Given the description of an element on the screen output the (x, y) to click on. 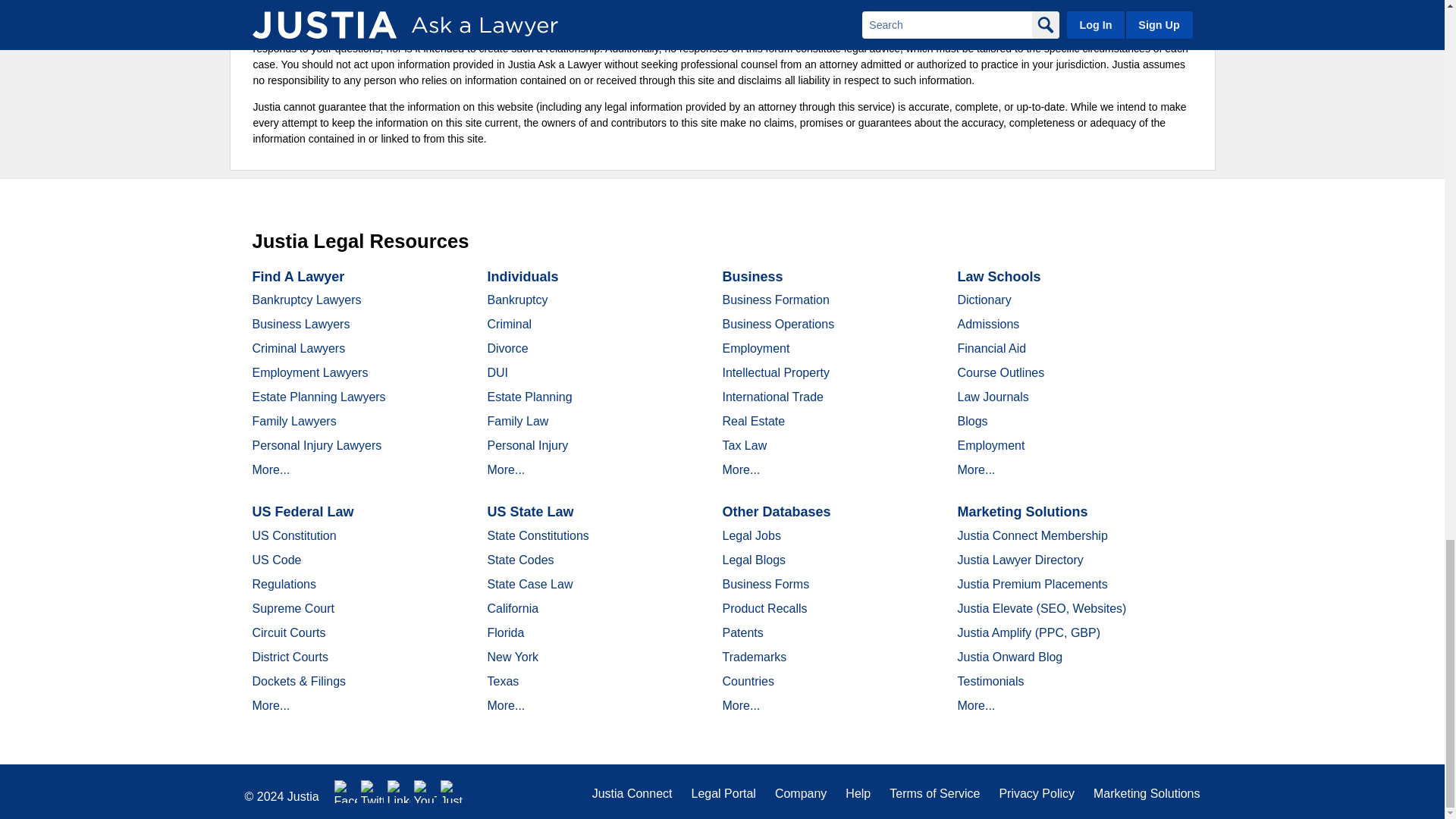
Facebook (345, 791)
LinkedIn (398, 791)
Justia Lawyer Directory (452, 791)
YouTube (424, 791)
Twitter (372, 791)
